Given the description of an element on the screen output the (x, y) to click on. 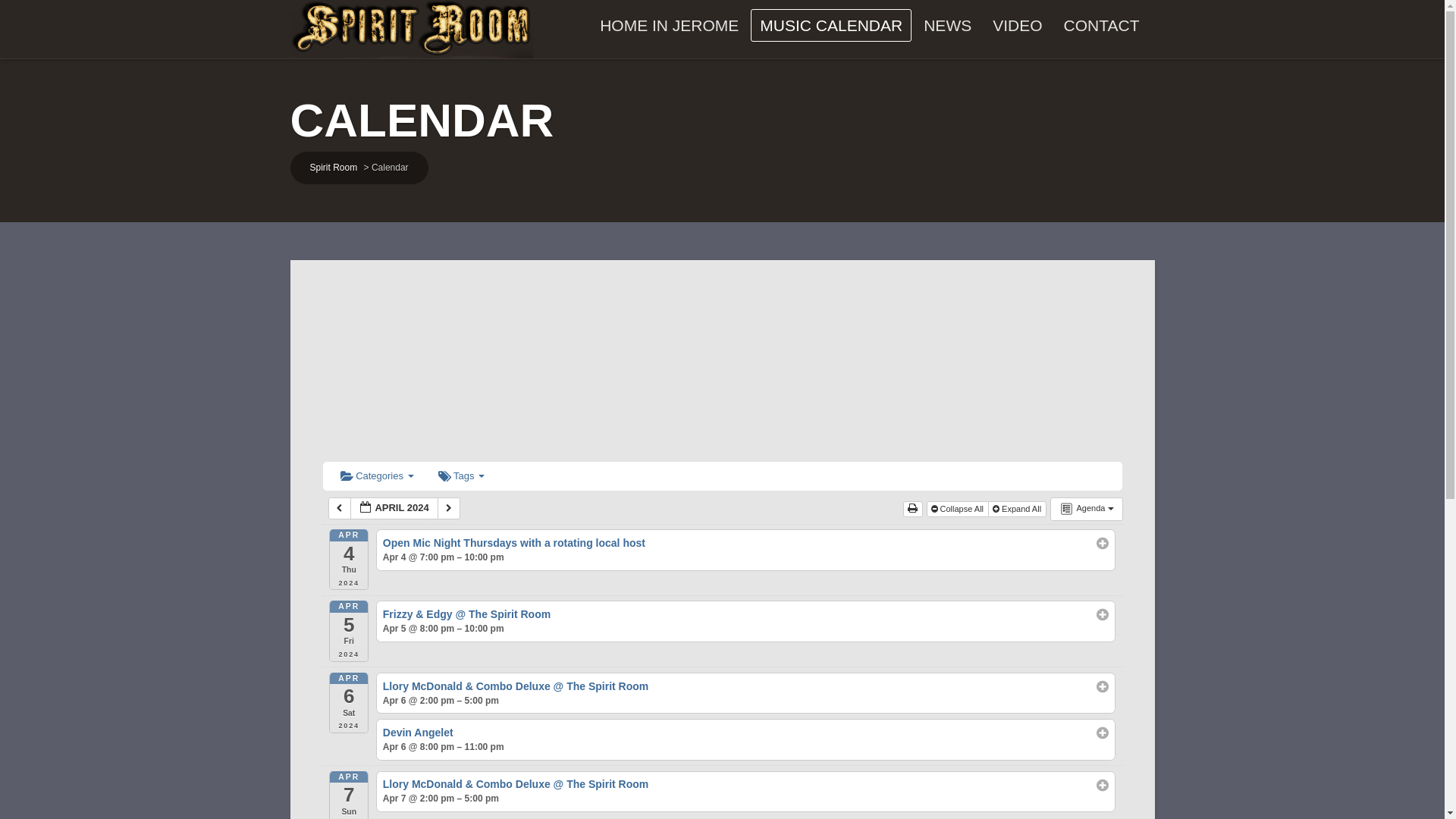
Categories (377, 476)
Spirit Room (410, 28)
Go to Spirit Room. (332, 167)
NEWS (946, 25)
HOME IN JEROME (669, 25)
Spirit Room (332, 167)
CONTACT (1101, 25)
Tags (461, 476)
MUSIC CALENDAR (831, 25)
Choose a date using calendar (394, 508)
